Given the description of an element on the screen output the (x, y) to click on. 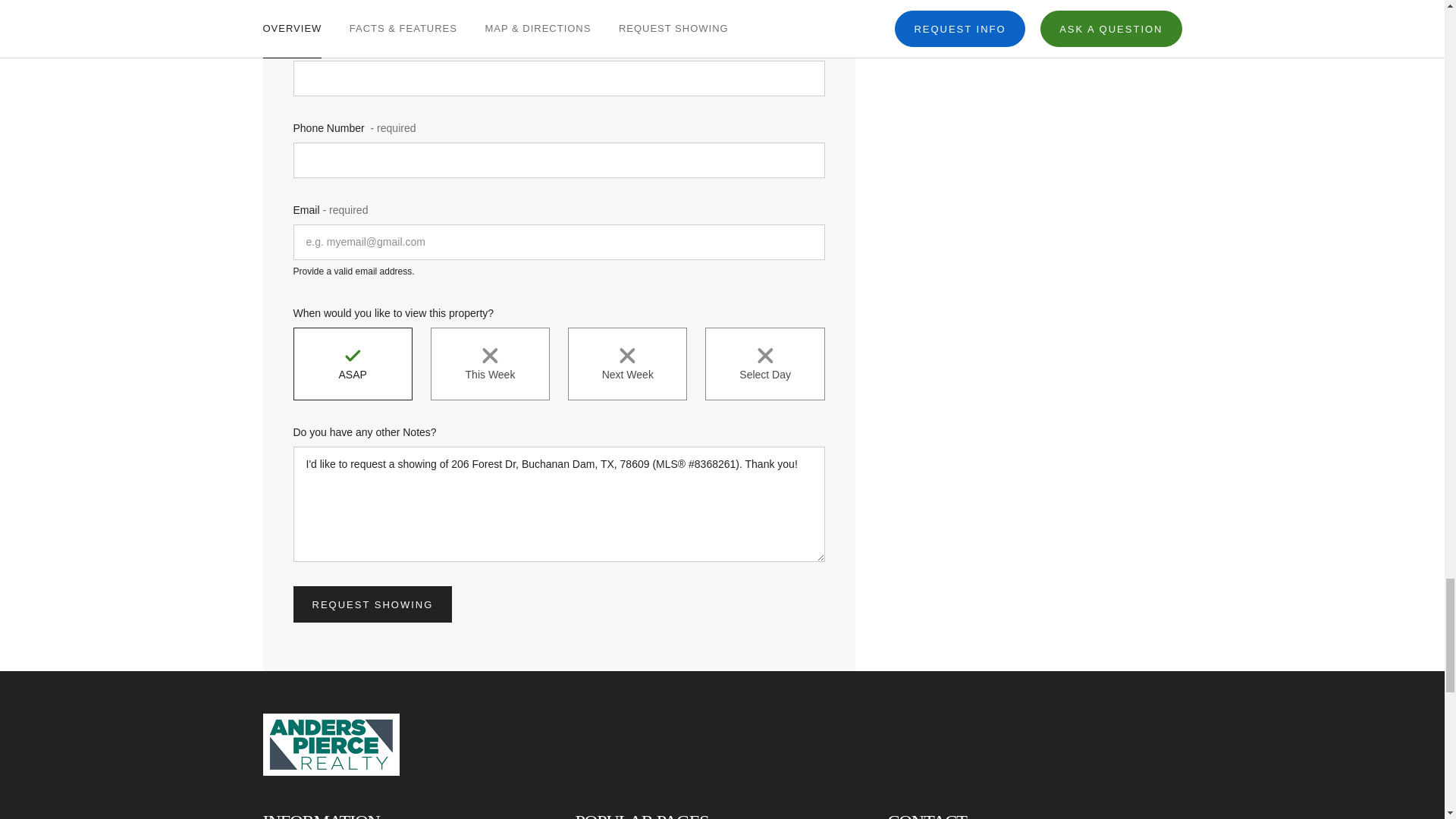
ASAP (352, 363)
Next Week (627, 363)
REQUEST SHOWING (371, 604)
This Week (490, 363)
